Given the description of an element on the screen output the (x, y) to click on. 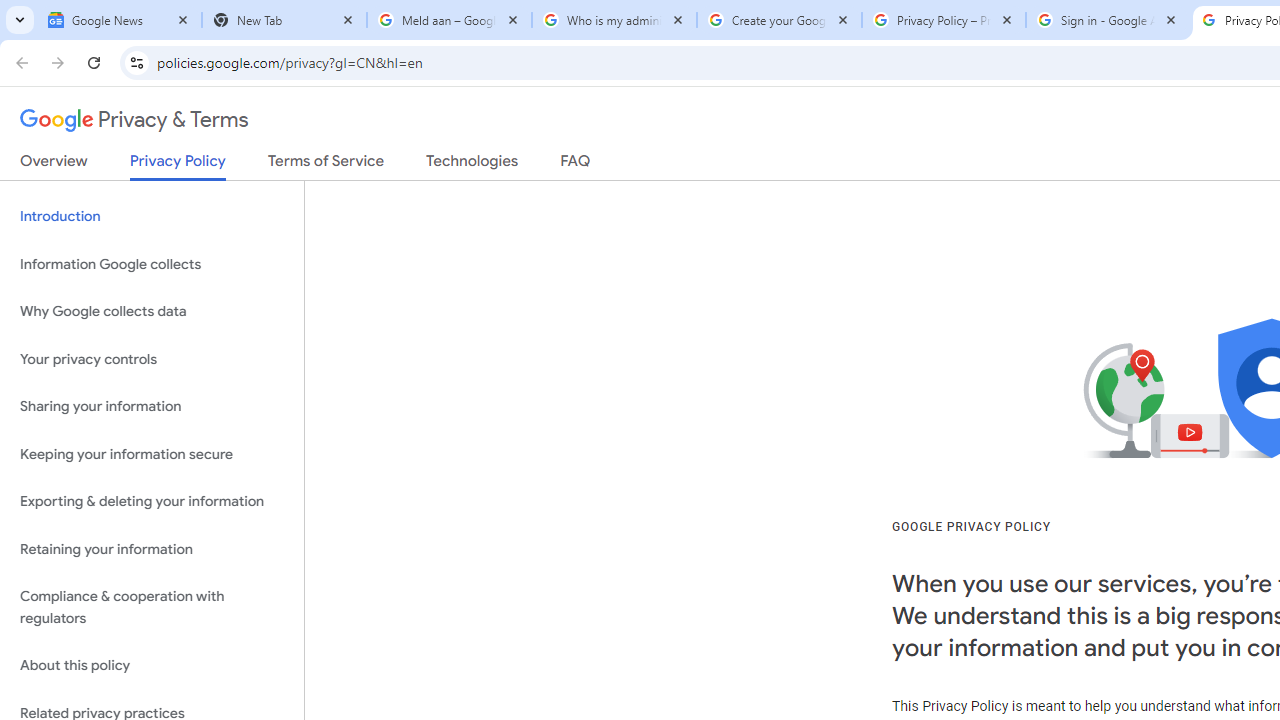
Compliance & cooperation with regulators (152, 607)
Create your Google Account (779, 20)
Your privacy controls (152, 358)
Sharing your information (152, 407)
Keeping your information secure (152, 453)
